Given the description of an element on the screen output the (x, y) to click on. 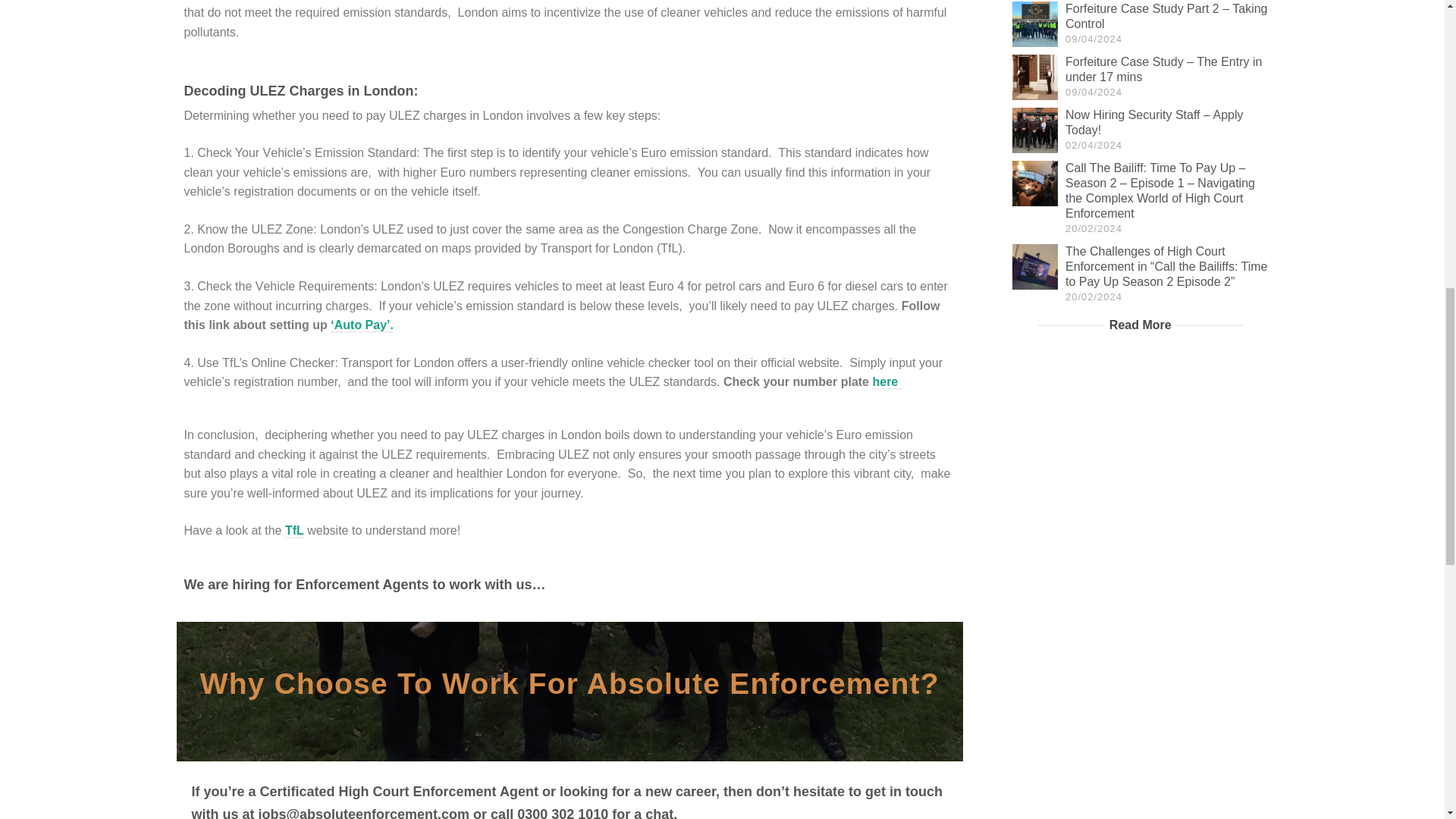
here  (886, 382)
TfL (294, 531)
Why Choose To Work For Absolute Enforcement? (569, 683)
